Given the description of an element on the screen output the (x, y) to click on. 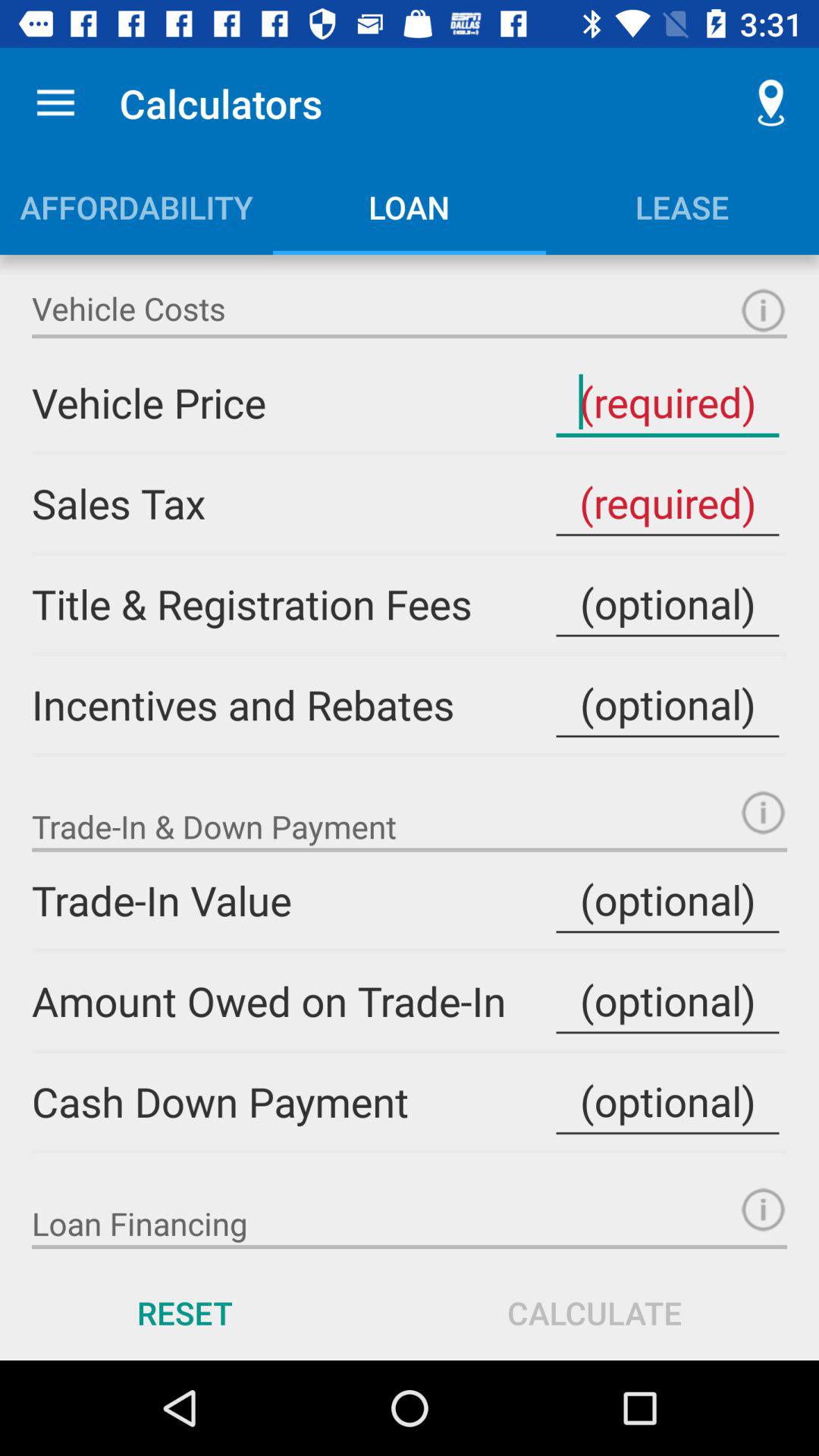
input field (667, 603)
